Given the description of an element on the screen output the (x, y) to click on. 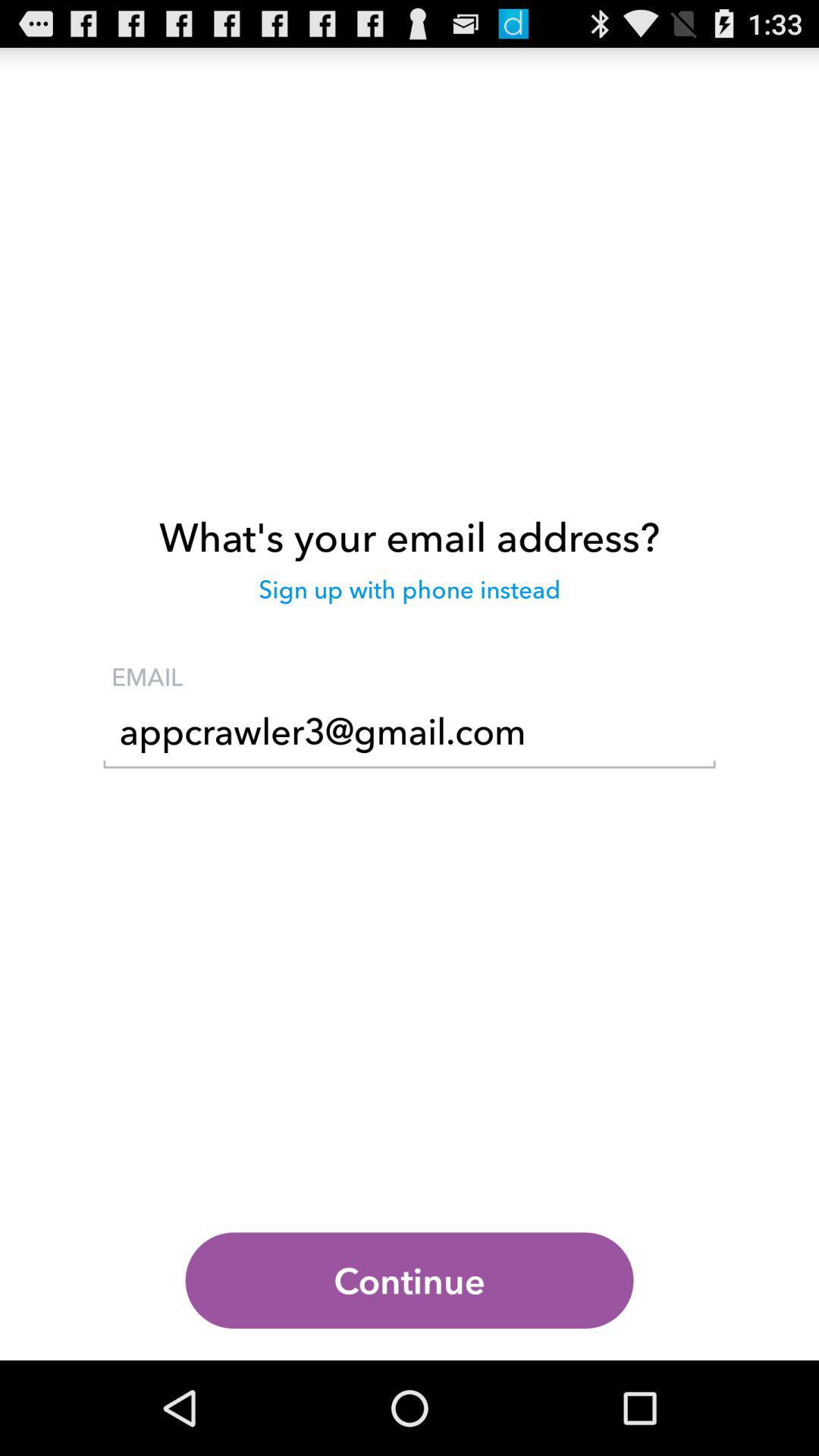
swipe to sign up with (409, 597)
